Given the description of an element on the screen output the (x, y) to click on. 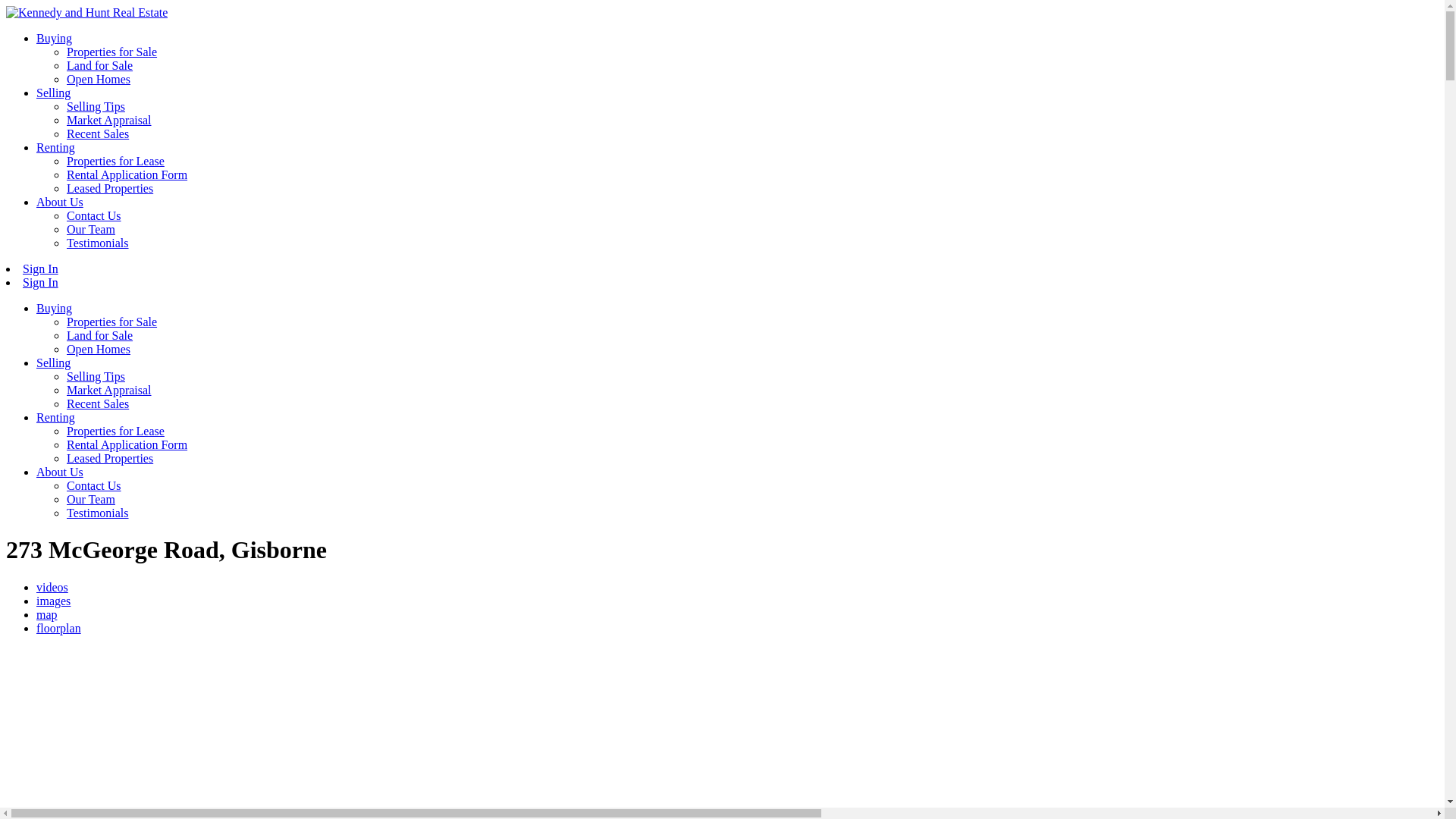
Rental Application Form Element type: text (126, 444)
Contact Us Element type: text (93, 215)
Properties for Lease Element type: text (115, 160)
Selling Tips Element type: text (95, 106)
Sign In Element type: text (40, 268)
map Element type: text (46, 614)
Selling Element type: text (53, 92)
Recent Sales Element type: text (97, 133)
Properties for Sale Element type: text (111, 321)
Open Homes Element type: text (98, 348)
videos Element type: text (52, 586)
Properties for Sale Element type: text (111, 51)
Testimonials Element type: text (97, 242)
Open Homes Element type: text (98, 78)
Renting Element type: text (55, 147)
Testimonials Element type: text (97, 512)
Our Team Element type: text (90, 498)
Market Appraisal Element type: text (108, 389)
Leased Properties Element type: text (109, 188)
Market Appraisal Element type: text (108, 119)
Sign In Element type: text (40, 282)
Recent Sales Element type: text (97, 403)
Renting Element type: text (55, 417)
About Us Element type: text (59, 201)
About Us Element type: text (59, 471)
floorplan Element type: text (58, 627)
Leased Properties Element type: text (109, 457)
images Element type: text (53, 600)
Selling Element type: text (53, 362)
Land for Sale Element type: text (99, 65)
Contact Us Element type: text (93, 485)
Land for Sale Element type: text (99, 335)
Our Team Element type: text (90, 228)
Buying Element type: text (54, 307)
Buying Element type: text (54, 37)
Selling Tips Element type: text (95, 376)
Rental Application Form Element type: text (126, 174)
Properties for Lease Element type: text (115, 430)
